Given the description of an element on the screen output the (x, y) to click on. 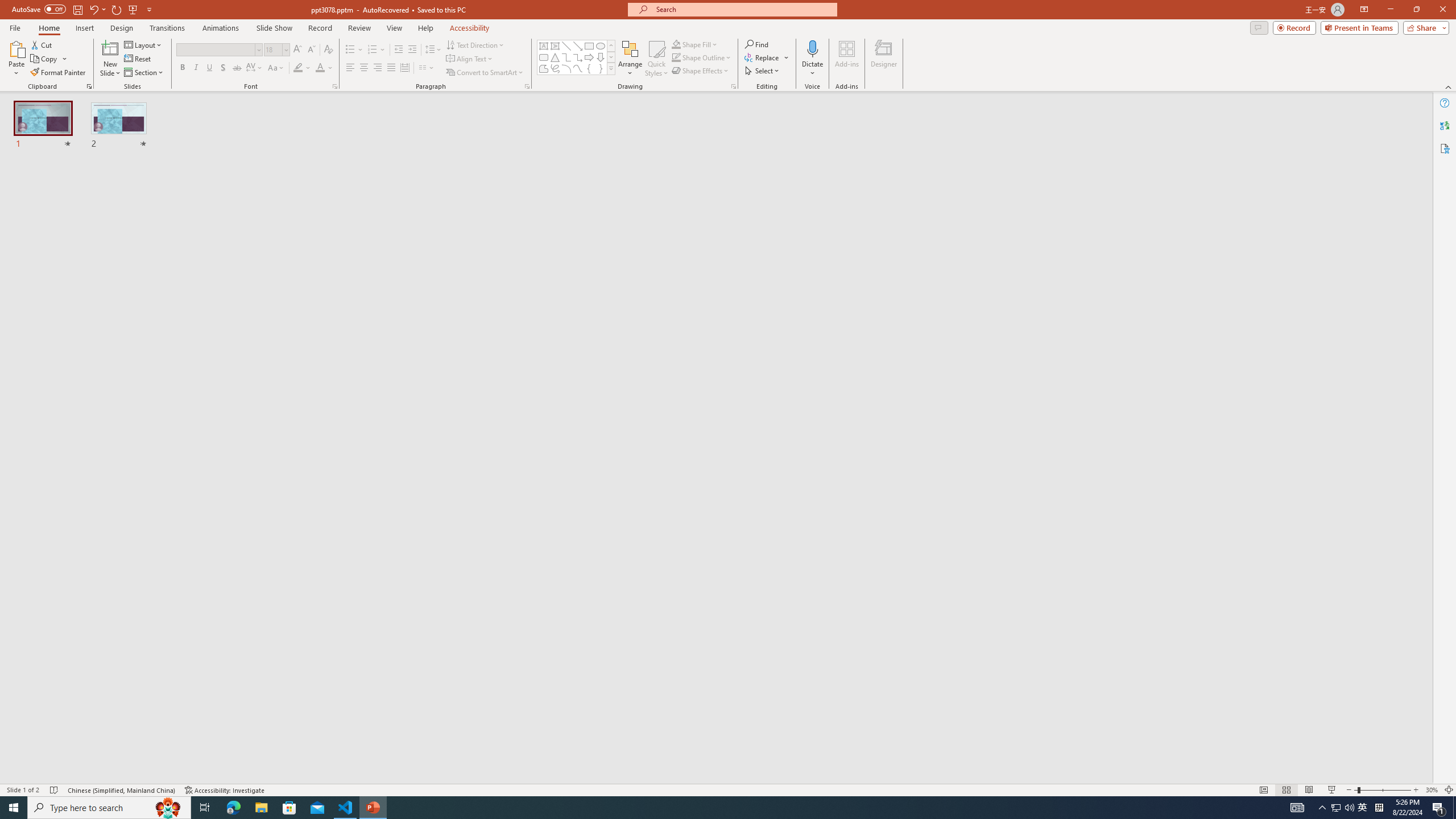
Shape Outline Green, Accent 1 (675, 56)
